Given the description of an element on the screen output the (x, y) to click on. 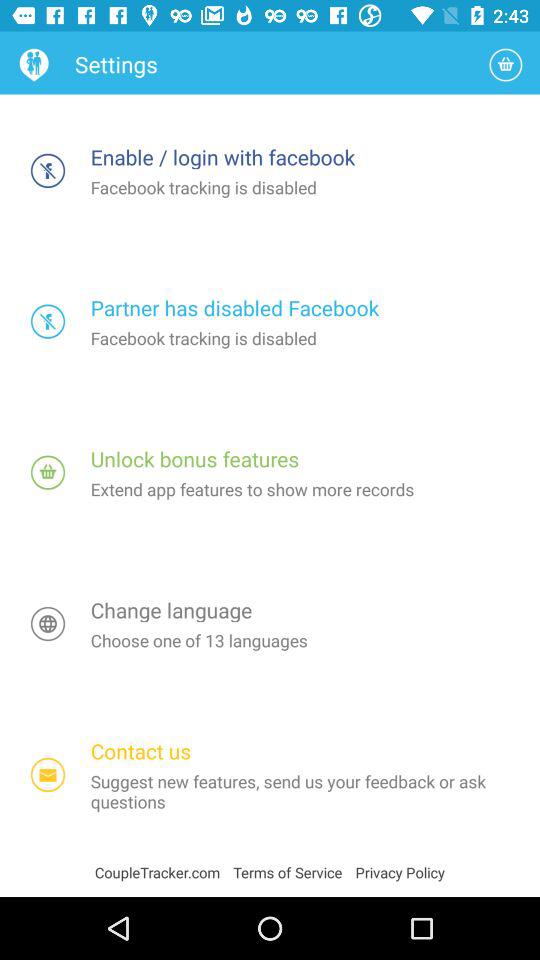
unlock bonus features (47, 472)
